Given the description of an element on the screen output the (x, y) to click on. 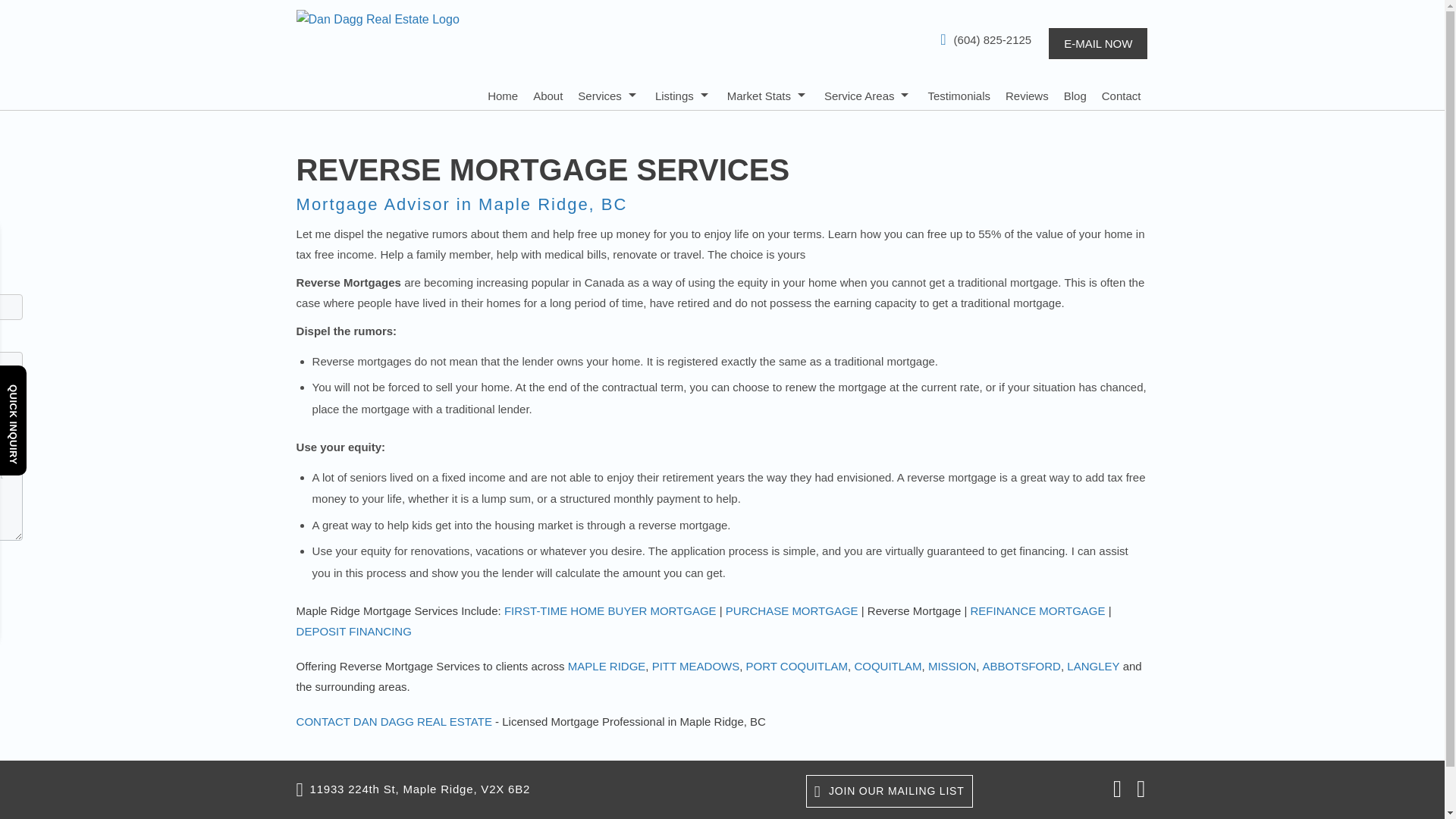
Blog (1075, 94)
Reviews (1027, 94)
Market Stats (767, 94)
Home (502, 94)
Contact (1121, 94)
E-MAIL NOW (1098, 43)
FIRST-TIME HOME BUYER MORTGAGE (609, 610)
Listings (683, 94)
Testimonials (958, 94)
About (547, 94)
Services (609, 94)
Service Areas (868, 94)
